Given the description of an element on the screen output the (x, y) to click on. 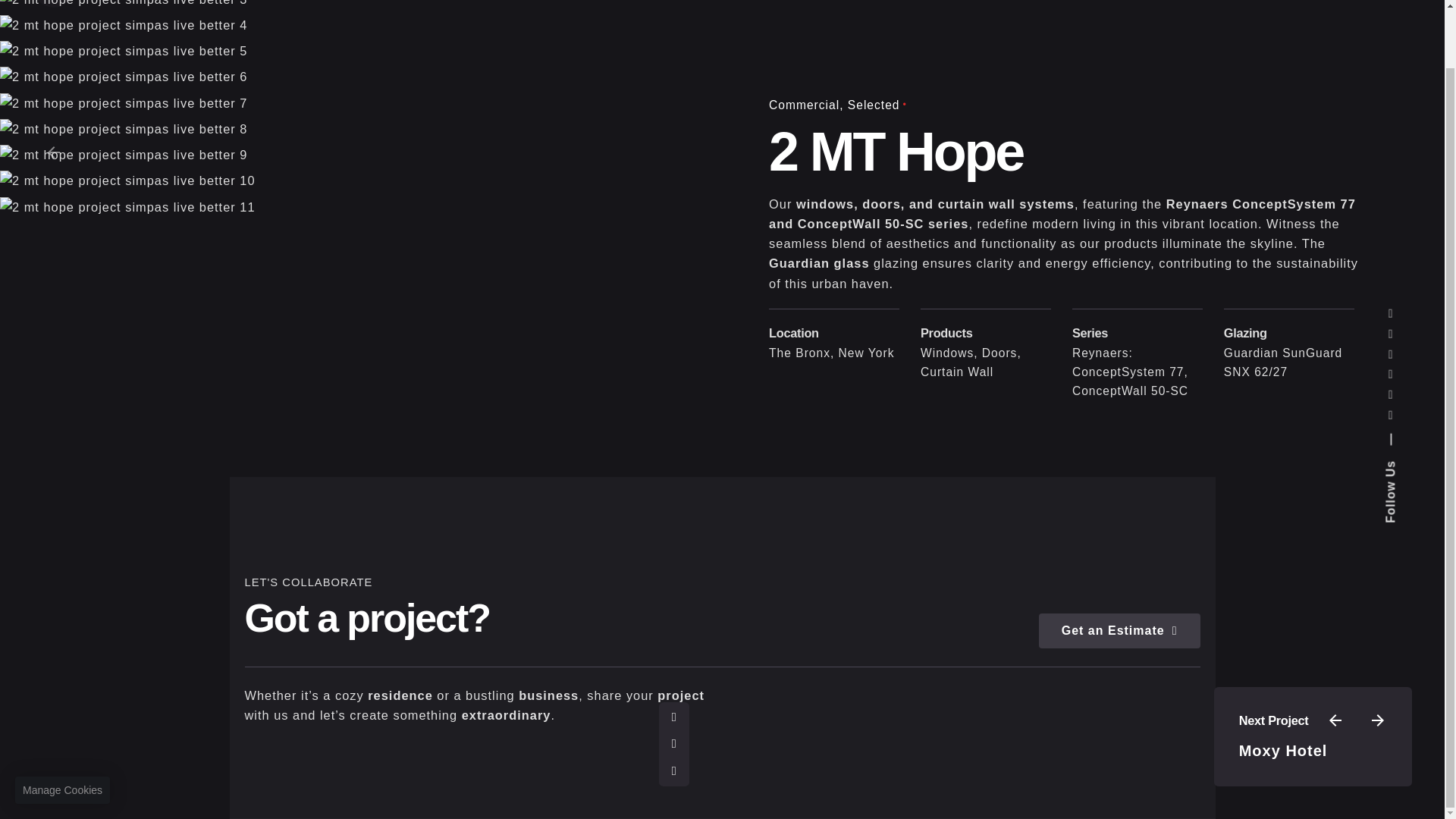
Products (841, 1)
Projects (1015, 1)
Home (667, 1)
News (1188, 1)
Company (749, 1)
Process (928, 1)
Contact (1264, 1)
Marketing (1106, 1)
